Given the description of an element on the screen output the (x, y) to click on. 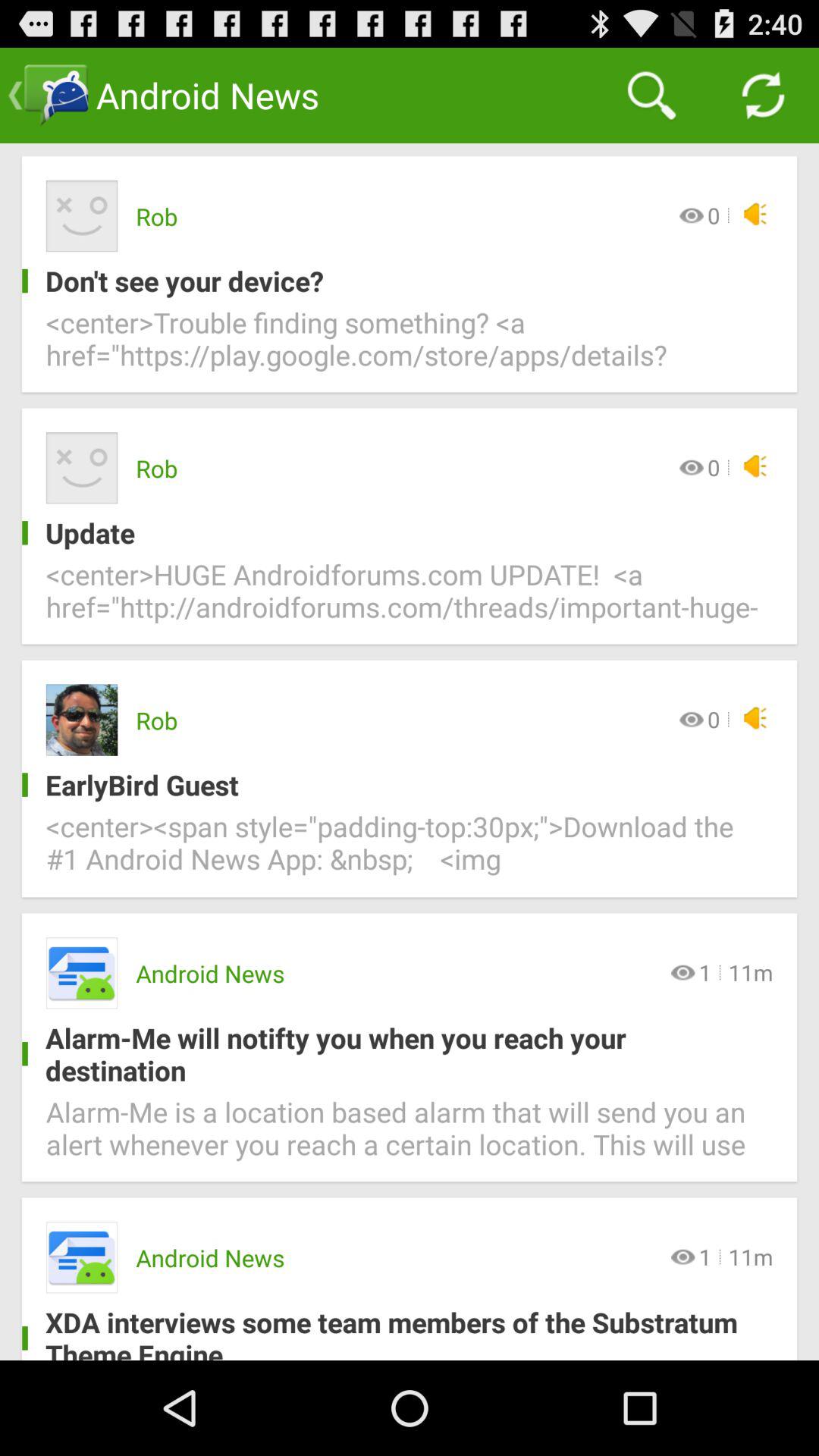
turn on center trouble finding (409, 347)
